Given the description of an element on the screen output the (x, y) to click on. 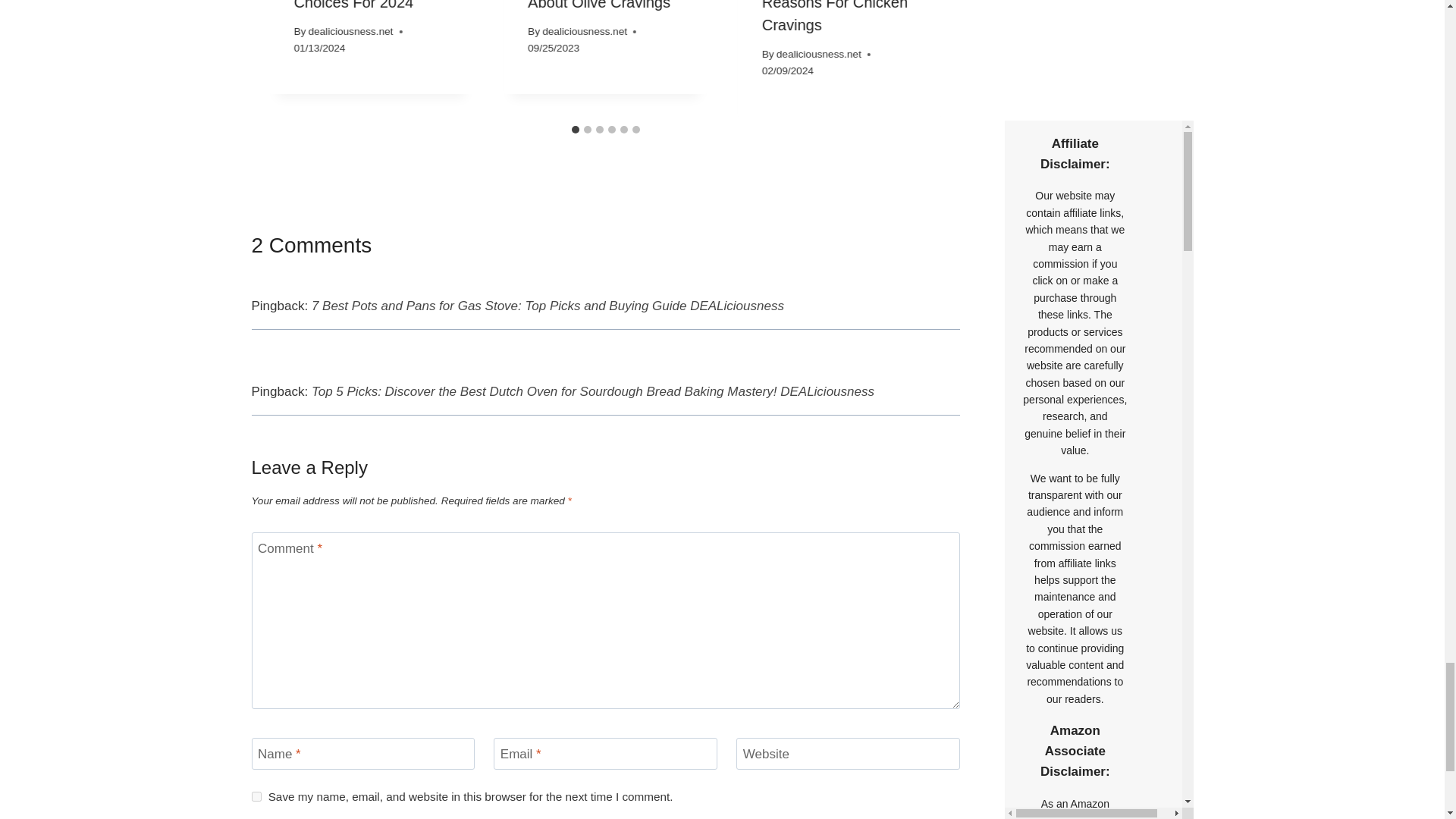
yes (256, 796)
